Given the description of an element on the screen output the (x, y) to click on. 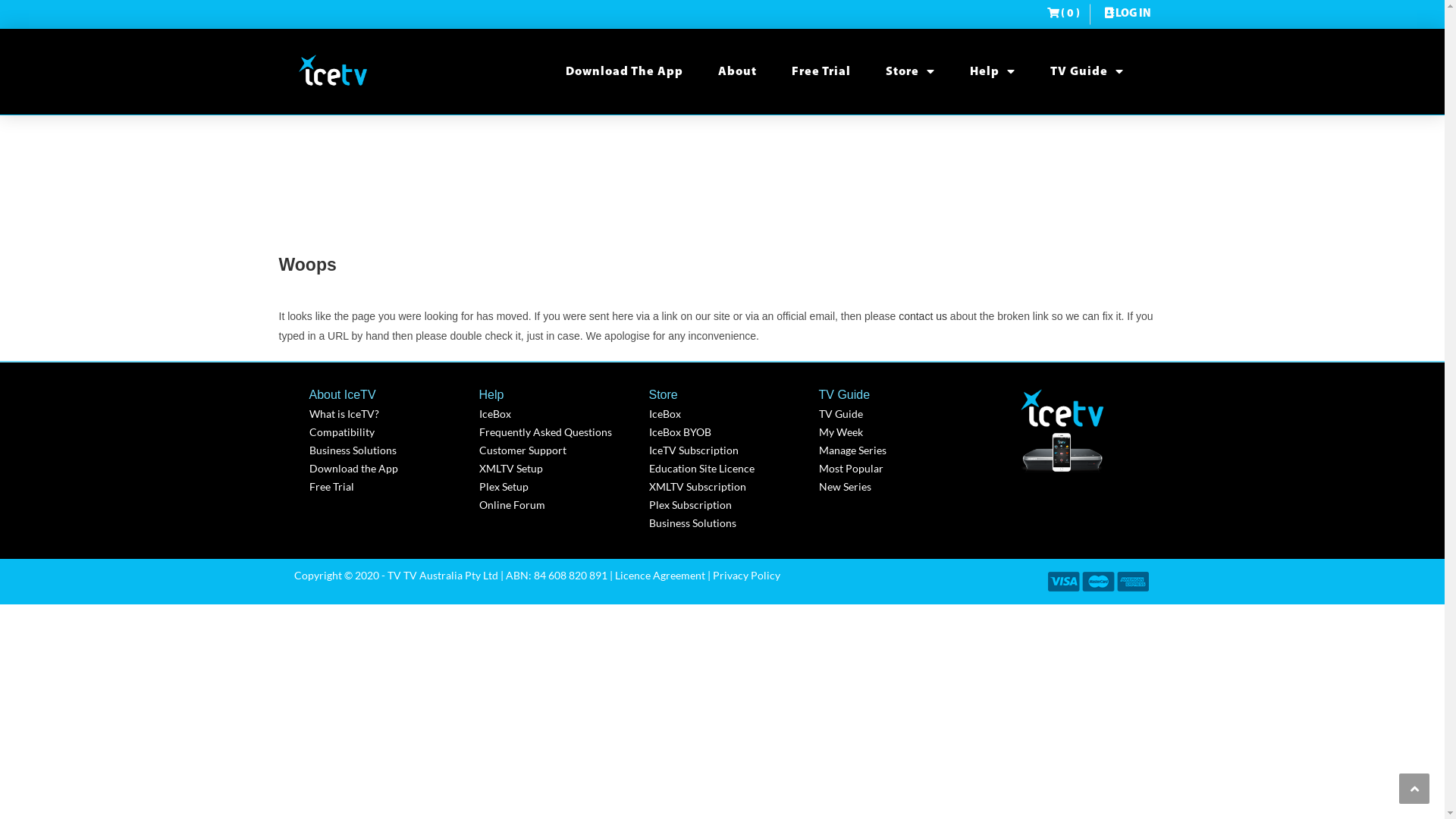
About Element type: text (736, 71)
Store Element type: text (910, 71)
Customer Support Element type: text (556, 450)
IceTV Subscription Element type: text (726, 450)
Free Trial Element type: text (821, 71)
Plex Setup Element type: text (556, 486)
Help Element type: text (991, 71)
Free Trial Element type: text (386, 486)
Business Solutions Element type: text (386, 450)
( 0 ) Element type: text (1062, 13)
My Week Element type: text (896, 432)
Education Site Licence Element type: text (726, 468)
Online Forum Element type: text (556, 504)
XMLTV Subscription Element type: text (726, 486)
Download The App Element type: text (624, 71)
XMLTV Setup Element type: text (556, 468)
TV Guide Element type: text (1086, 71)
contact us Element type: text (922, 316)
Download the App Element type: text (386, 468)
TV Guide Element type: text (896, 413)
New Series Element type: text (896, 486)
Licence Agreement Element type: text (659, 574)
Manage Series Element type: text (896, 450)
IceBox Element type: text (556, 413)
Most Popular Element type: text (896, 468)
Business Solutions Element type: text (726, 523)
What is IceTV? Element type: text (386, 413)
IceBox BYOB Element type: text (726, 432)
Privacy Policy Element type: text (746, 574)
Plex Subscription Element type: text (726, 504)
Compatibility Element type: text (386, 432)
Frequently Asked Questions Element type: text (556, 432)
LOG IN Element type: text (1126, 13)
IceBox Element type: text (726, 413)
